Given the description of an element on the screen output the (x, y) to click on. 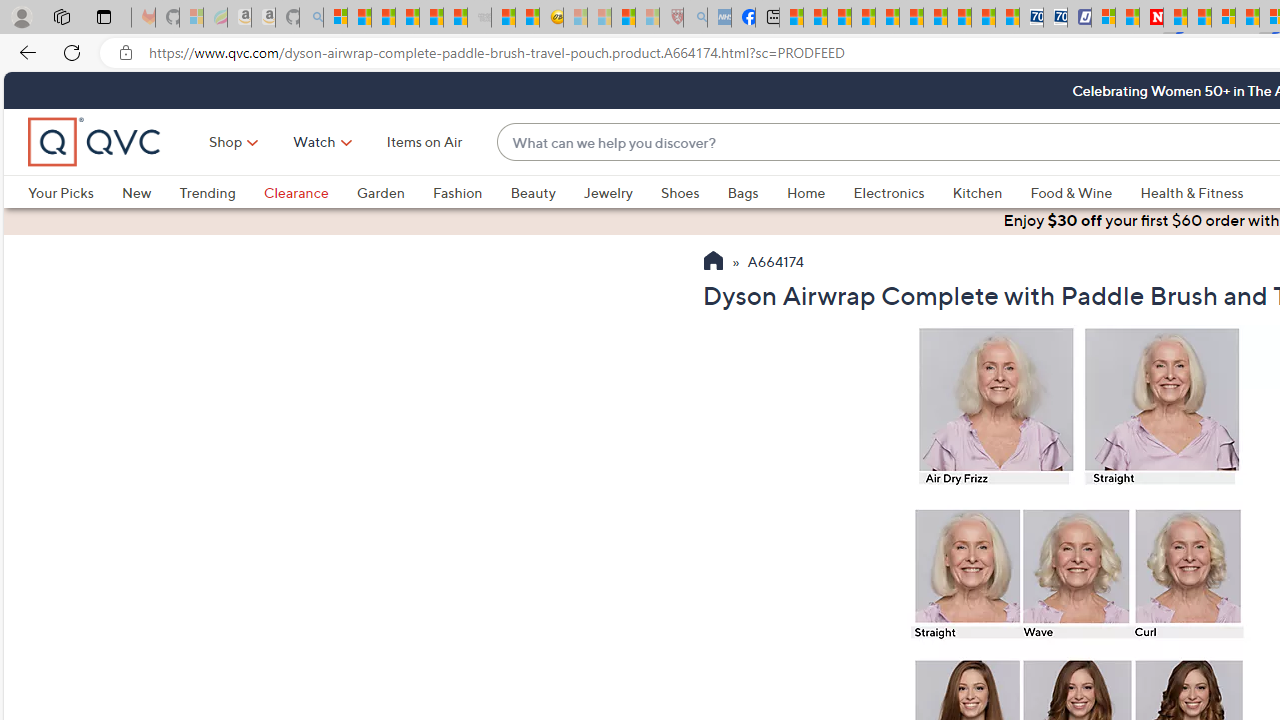
Climate Damage Becomes Too Severe To Reverse (863, 17)
Shoes (680, 192)
Your Picks (74, 192)
A664174 (776, 263)
Fashion (471, 192)
